Given the description of an element on the screen output the (x, y) to click on. 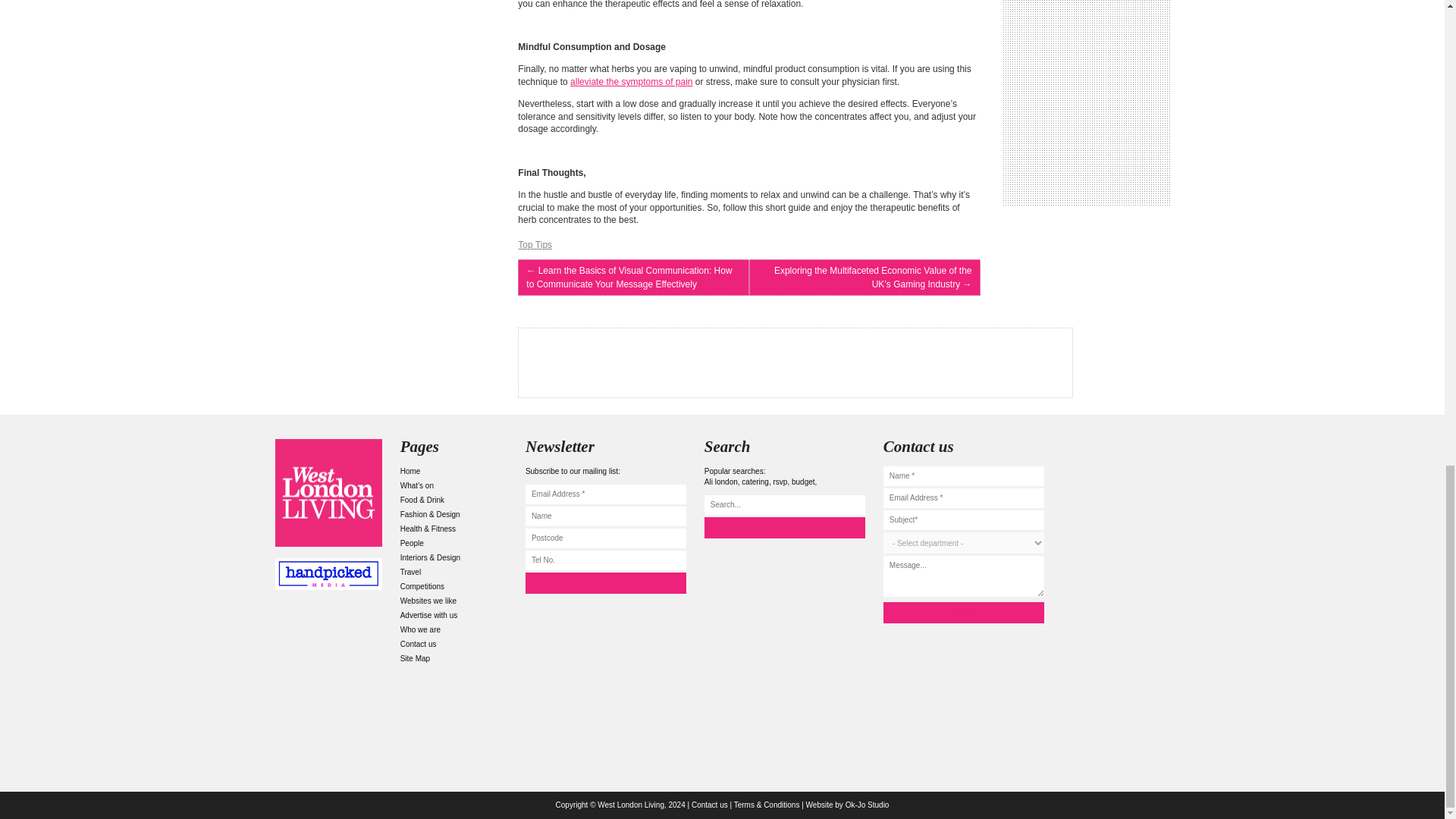
Send (963, 612)
Tel No. (605, 560)
Postcode (605, 537)
Search (784, 527)
Subscribe (605, 582)
Name (605, 516)
